Given the description of an element on the screen output the (x, y) to click on. 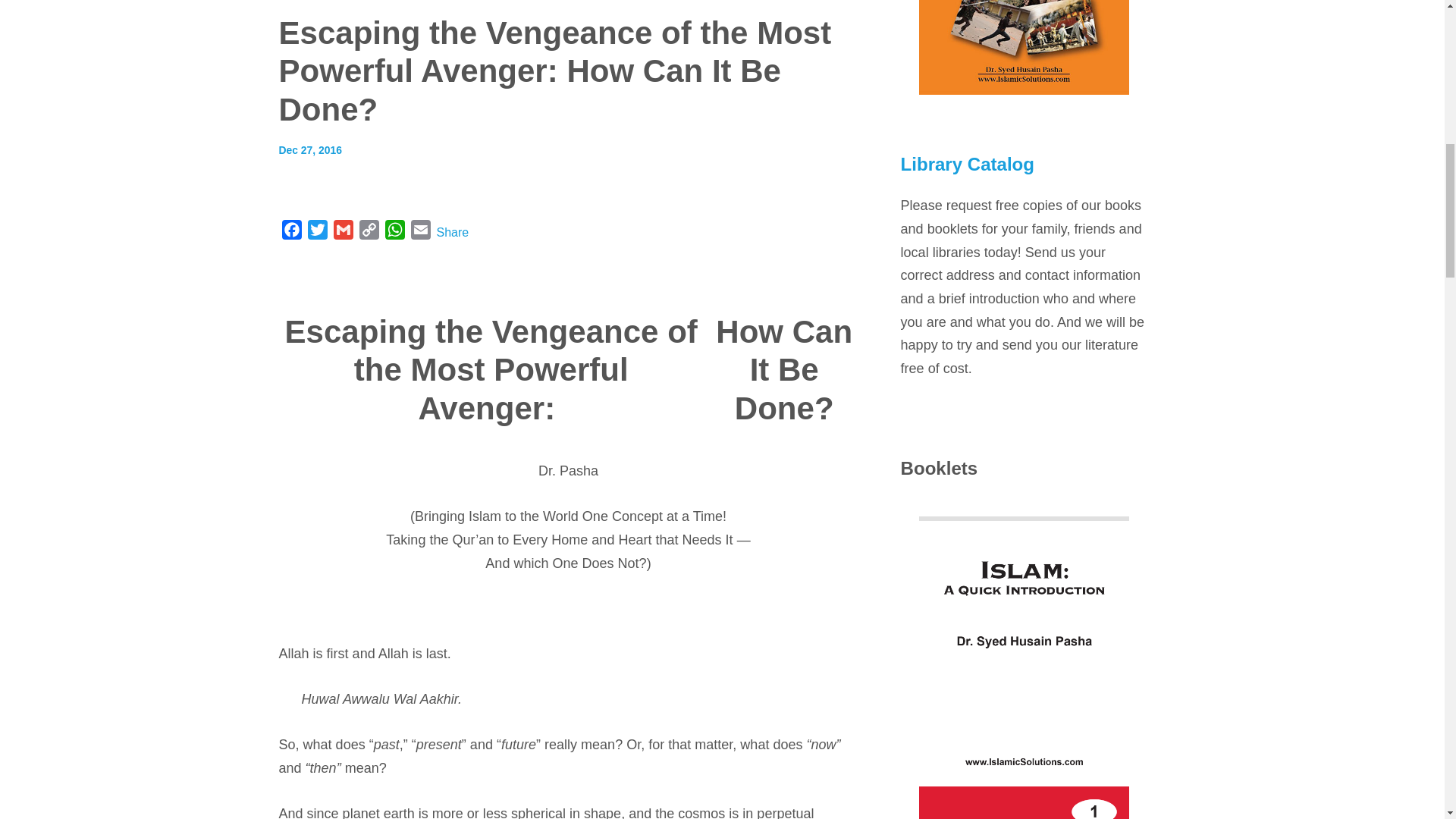
Facebook (291, 232)
Copy Link (368, 232)
Email (420, 232)
Gmail (343, 232)
Twitter (317, 232)
WhatsApp (394, 232)
